Given the description of an element on the screen output the (x, y) to click on. 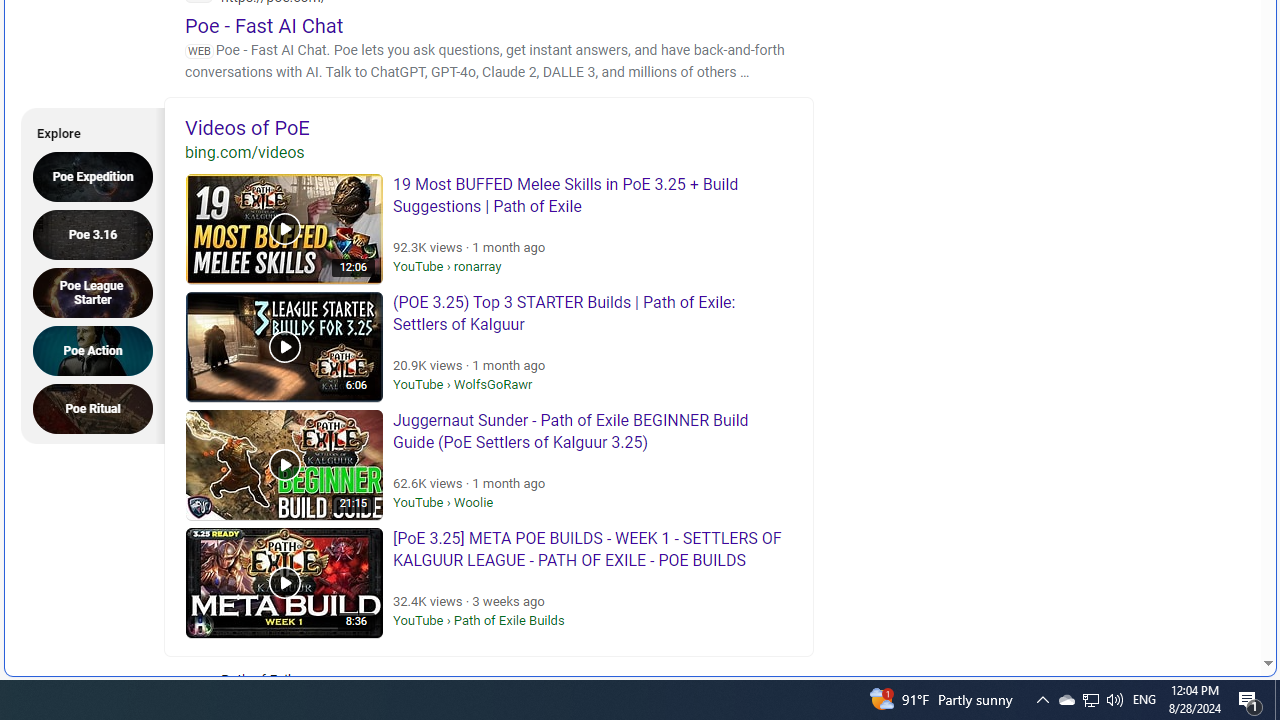
Poe League Starter (99, 292)
Path of Exile (324, 692)
